Given the description of an element on the screen output the (x, y) to click on. 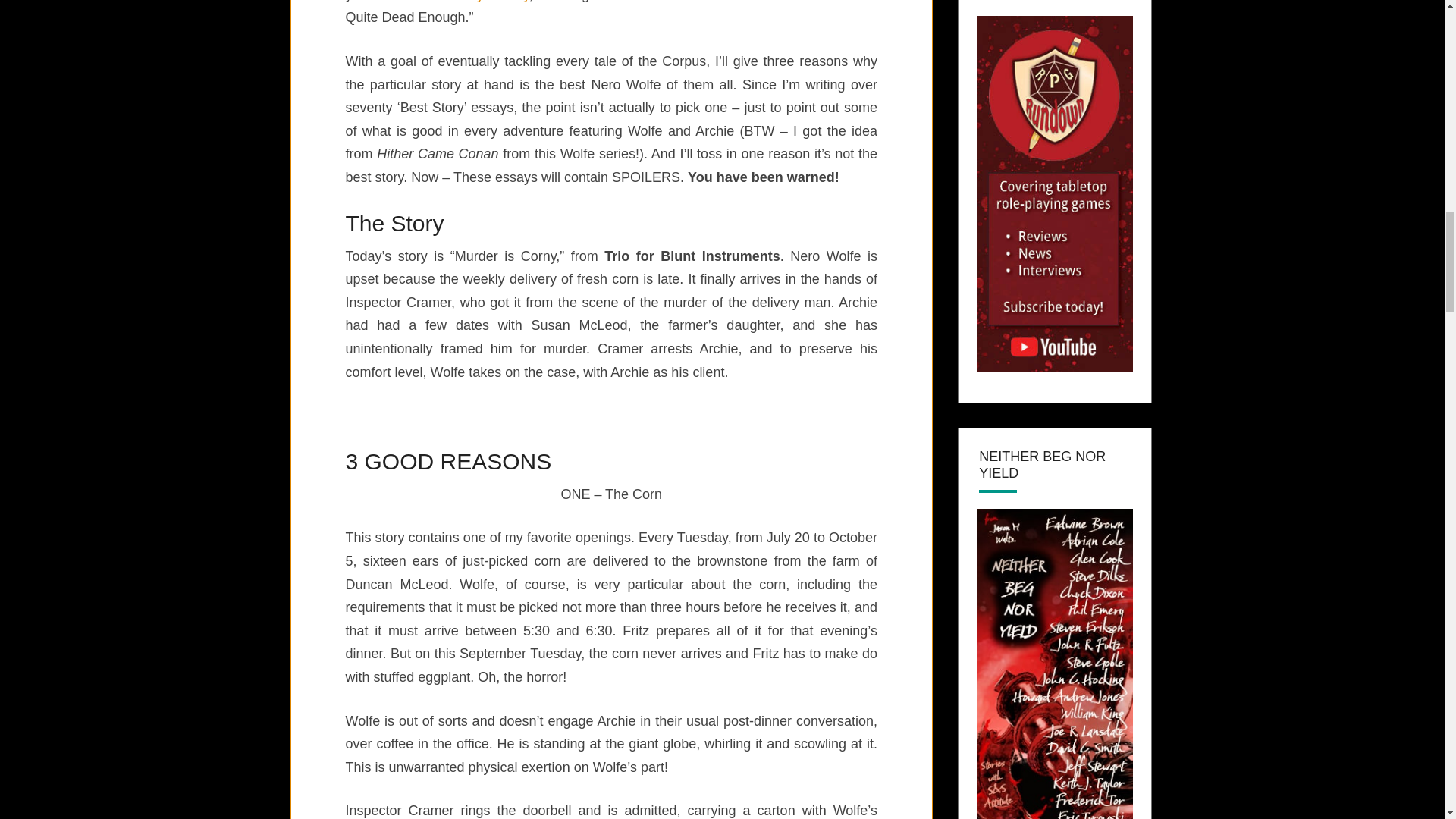
You can read my first try (453, 1)
